Given the description of an element on the screen output the (x, y) to click on. 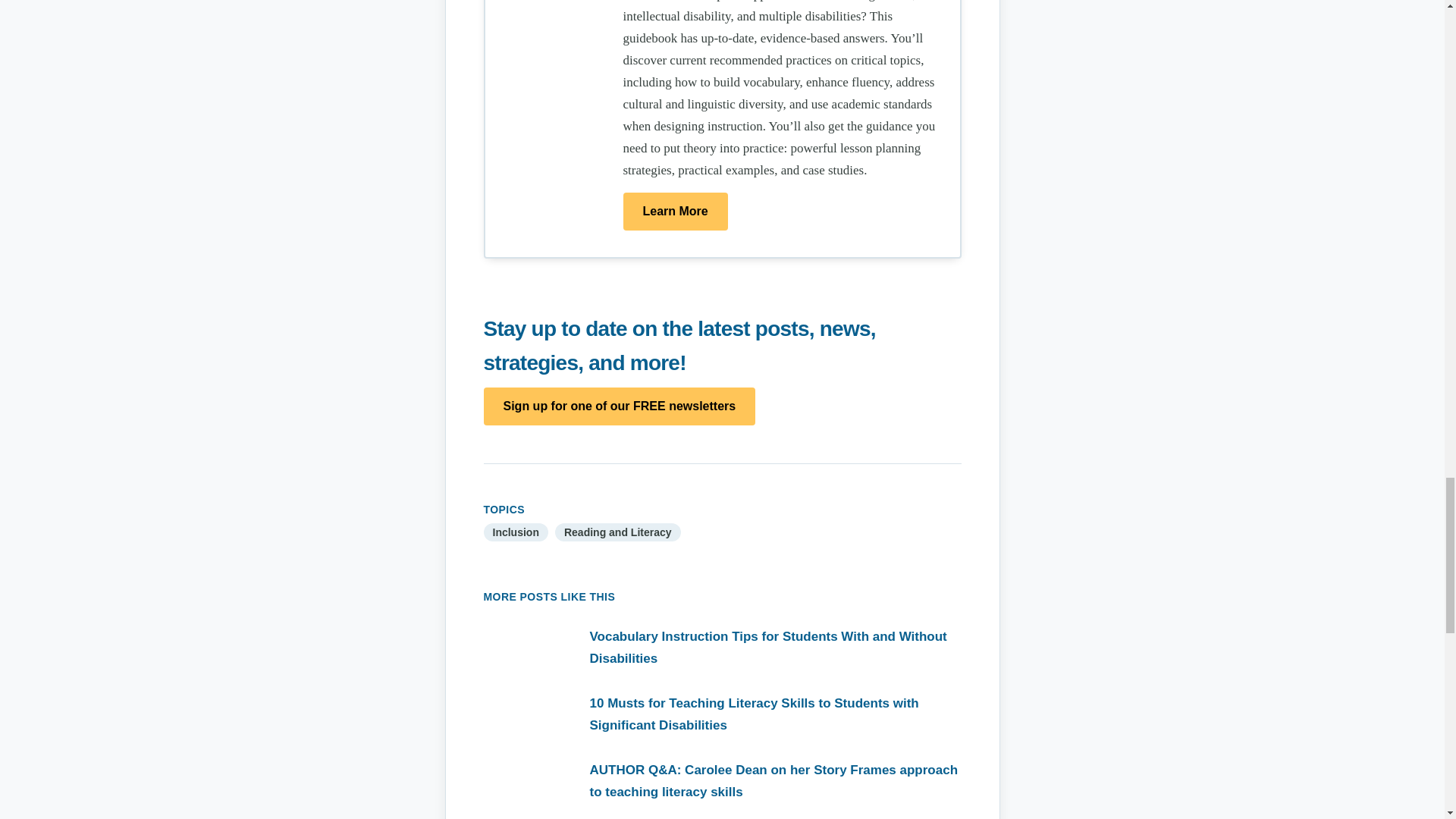
Sign up for one of our FREE newsletters (619, 406)
Inclusion (515, 532)
Learn More (675, 211)
Reading and Literacy (617, 532)
